Given the description of an element on the screen output the (x, y) to click on. 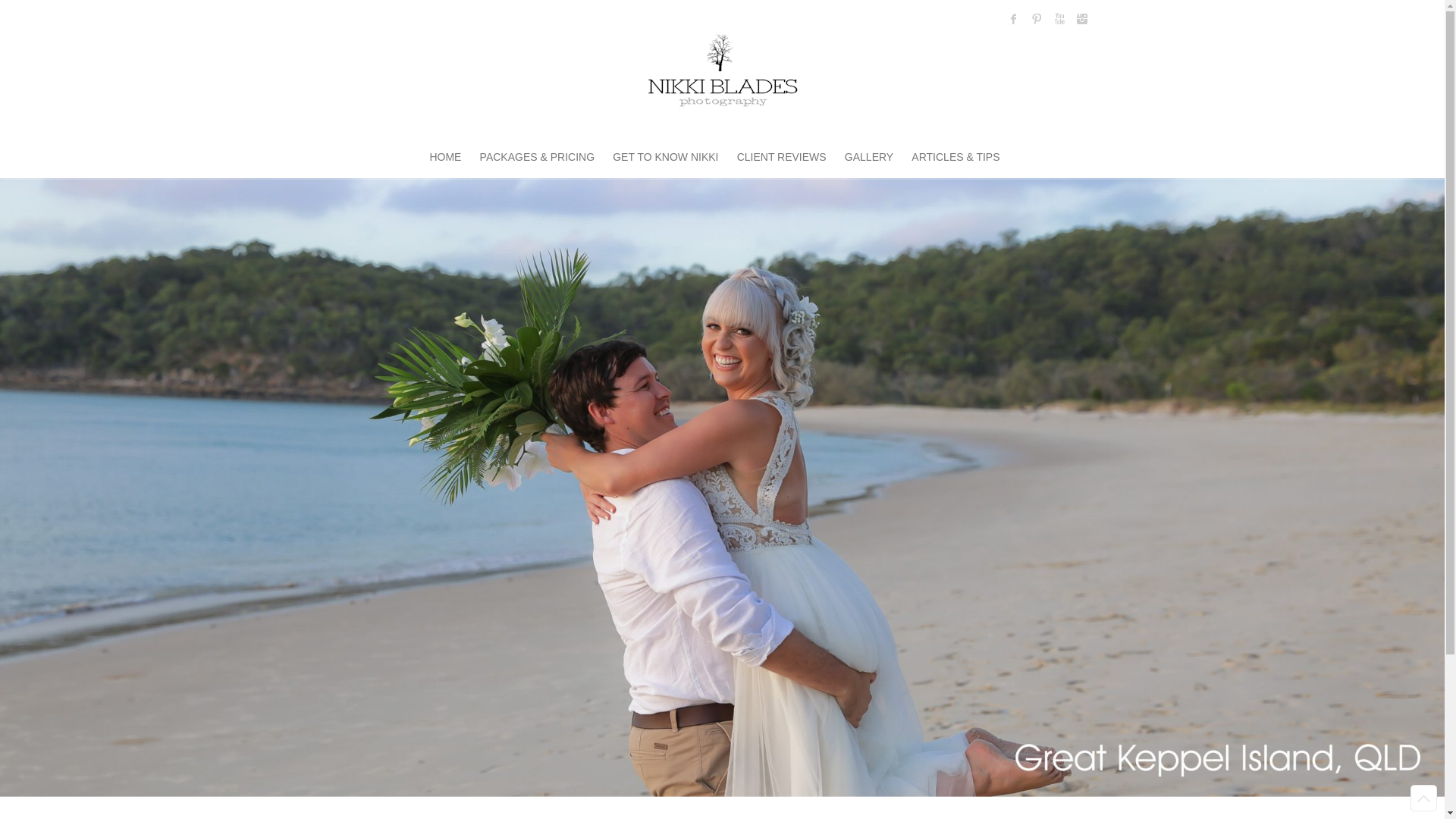
Back to Top Element type: text (1423, 797)
ARTICLES & TIPS Element type: text (955, 157)
HOME Element type: text (445, 157)
PACKAGES & PRICING Element type: text (537, 157)
GALLERY Element type: text (868, 157)
CLIENT REVIEWS Element type: text (781, 157)
GET TO KNOW NIKKI Element type: text (665, 157)
